Given the description of an element on the screen output the (x, y) to click on. 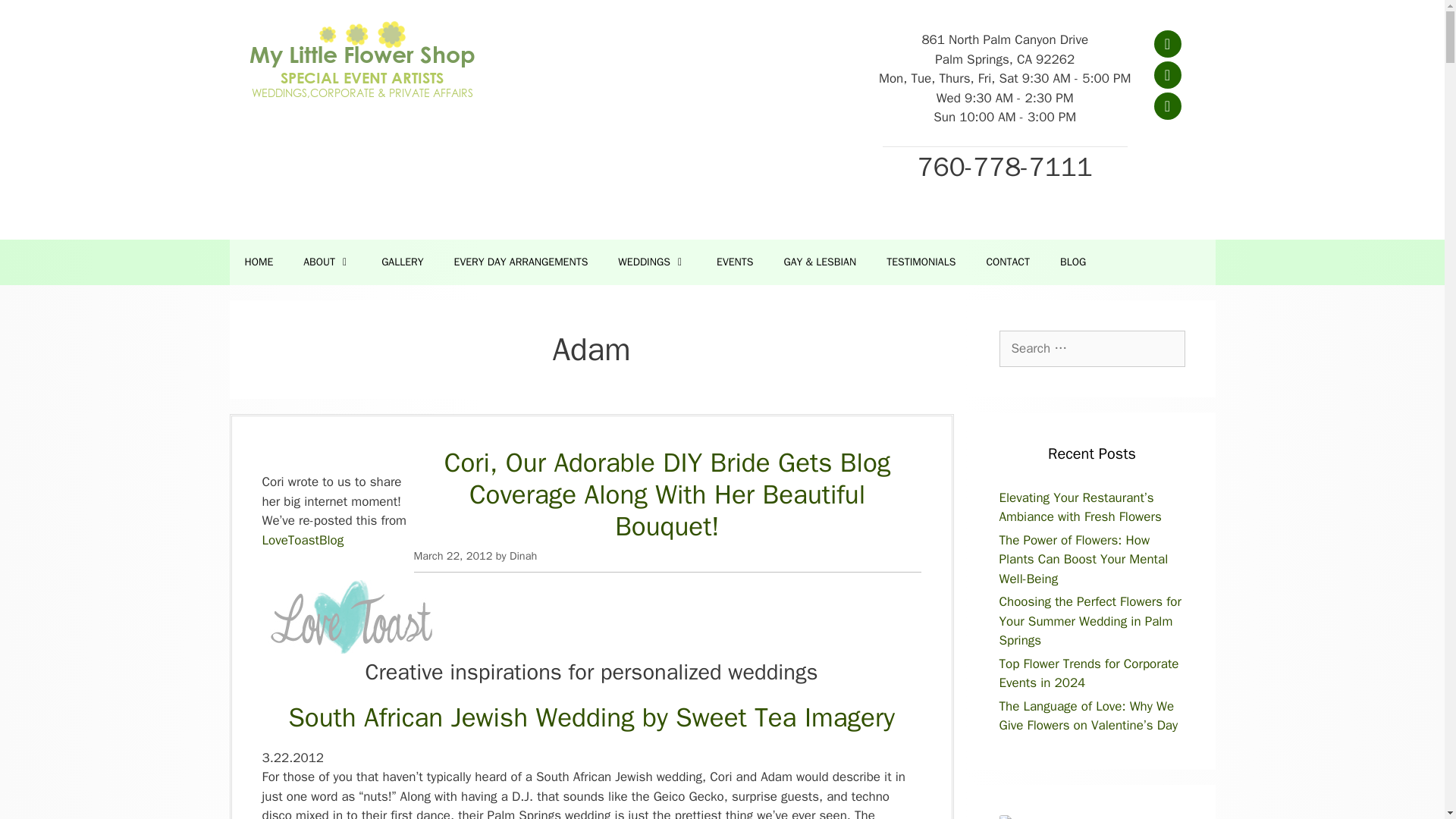
EVENTS (734, 262)
LoveToastBlog (302, 539)
EVERY DAY ARRANGEMENTS (521, 262)
WEDDINGS (651, 262)
Dinah (523, 555)
HOME (258, 262)
TESTIMONIALS (920, 262)
CONTACT (1008, 262)
View all posts by Dinah (523, 555)
GALLERY (402, 262)
Love Toast (355, 649)
ABOUT (327, 262)
South African Jewish Wedding by Sweet Tea Imagery (591, 717)
